Given the description of an element on the screen output the (x, y) to click on. 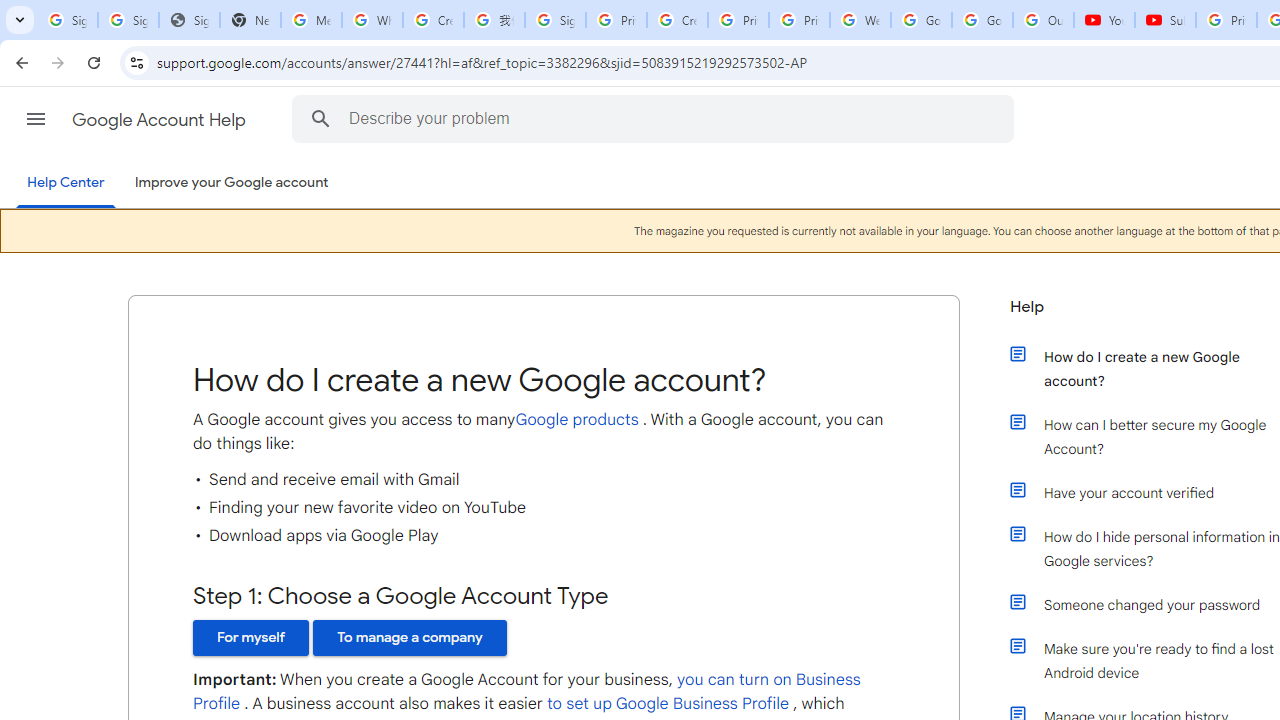
New Tab (250, 20)
Google Account (982, 20)
Who is my administrator? - Google Account Help (372, 20)
Describe your problem (655, 118)
Search tabs (20, 20)
Reload (93, 62)
Create your Google Account (433, 20)
you can turn on Business Profile (527, 692)
Forward (57, 62)
